Given the description of an element on the screen output the (x, y) to click on. 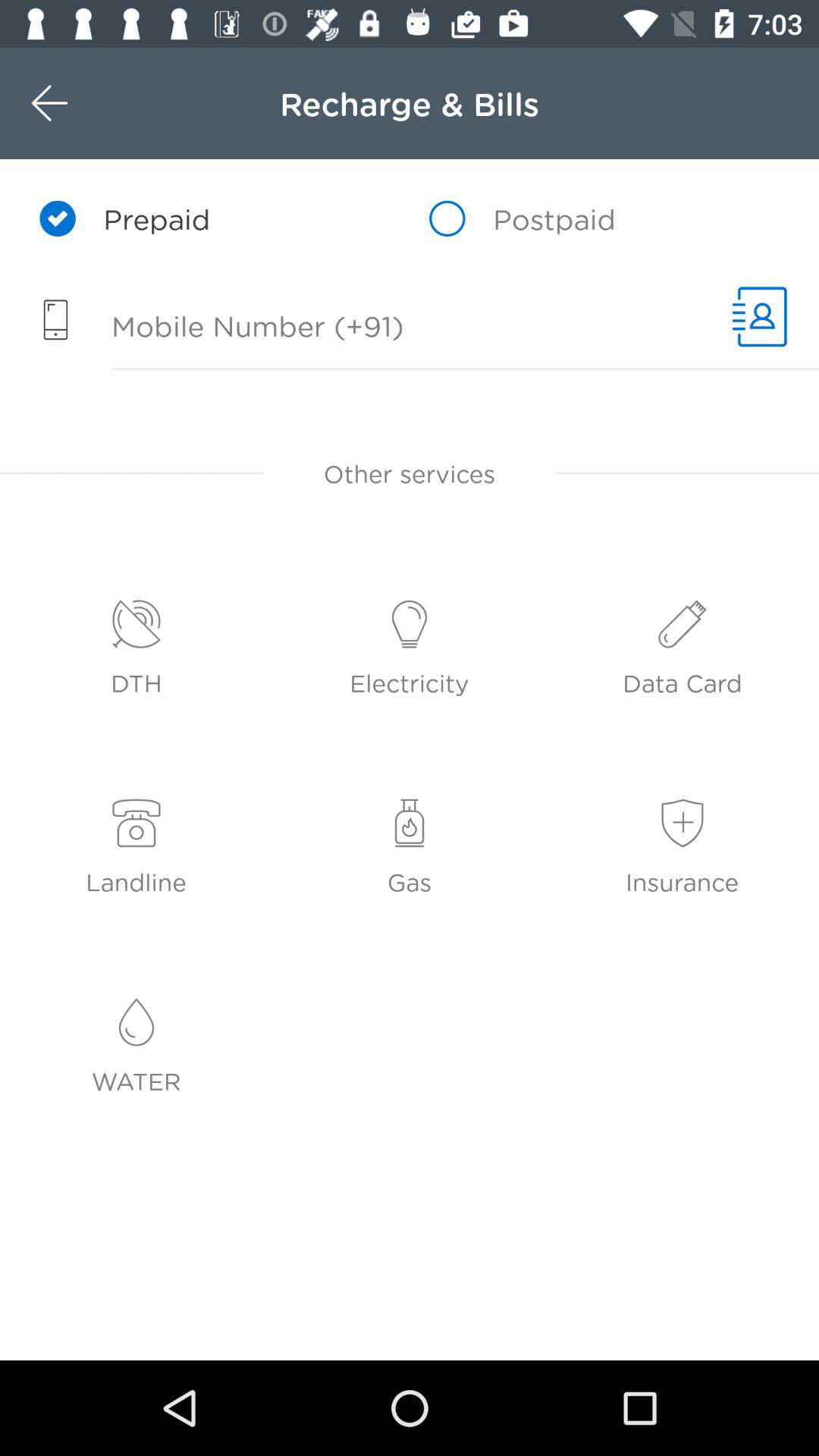
turn on w (81, 103)
